Given the description of an element on the screen output the (x, y) to click on. 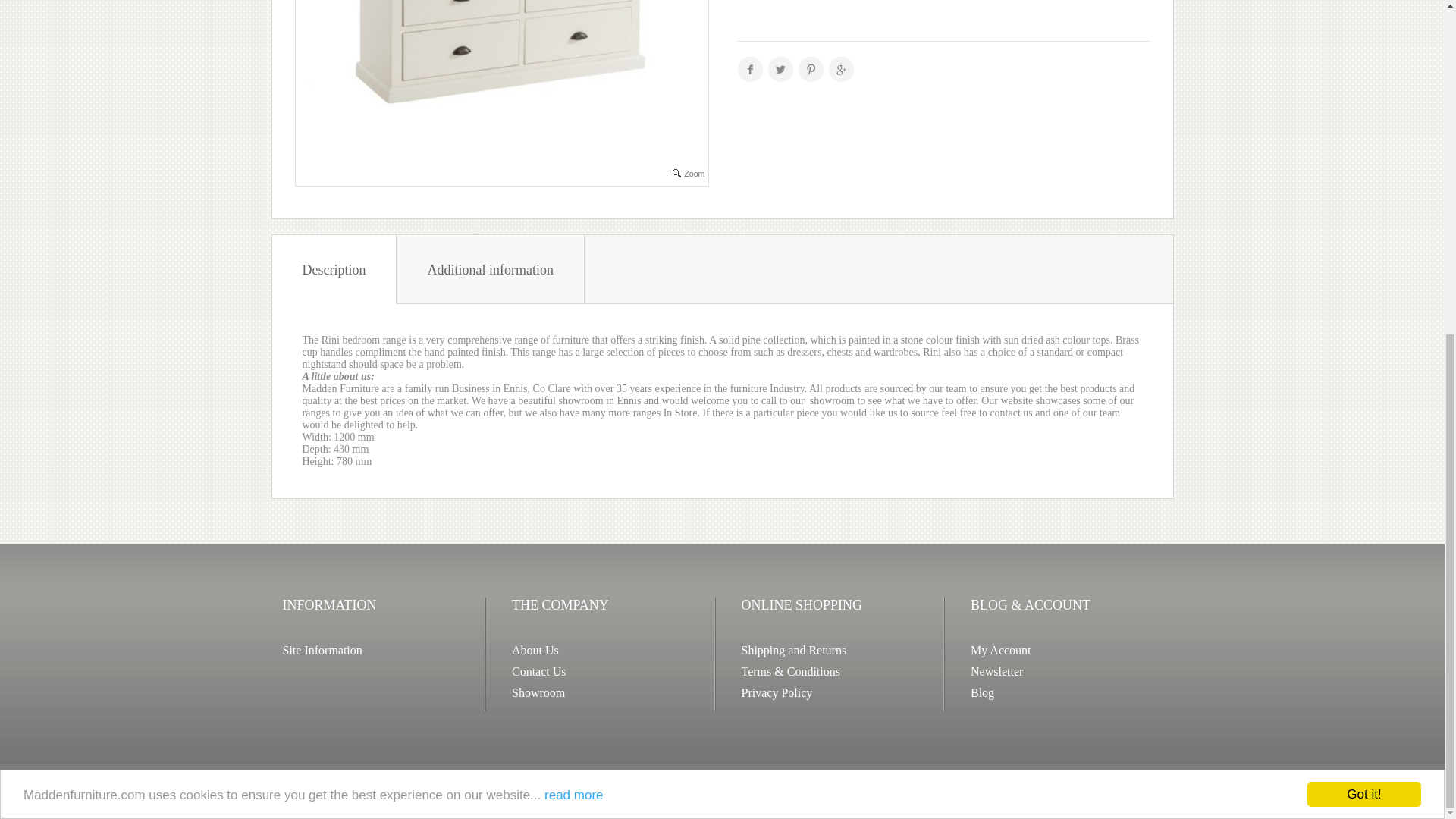
Site Information (321, 649)
Showroom (538, 692)
Description (333, 269)
Zoom (501, 92)
About Us (535, 649)
Contact Us (539, 671)
Additional information (489, 269)
